Given the description of an element on the screen output the (x, y) to click on. 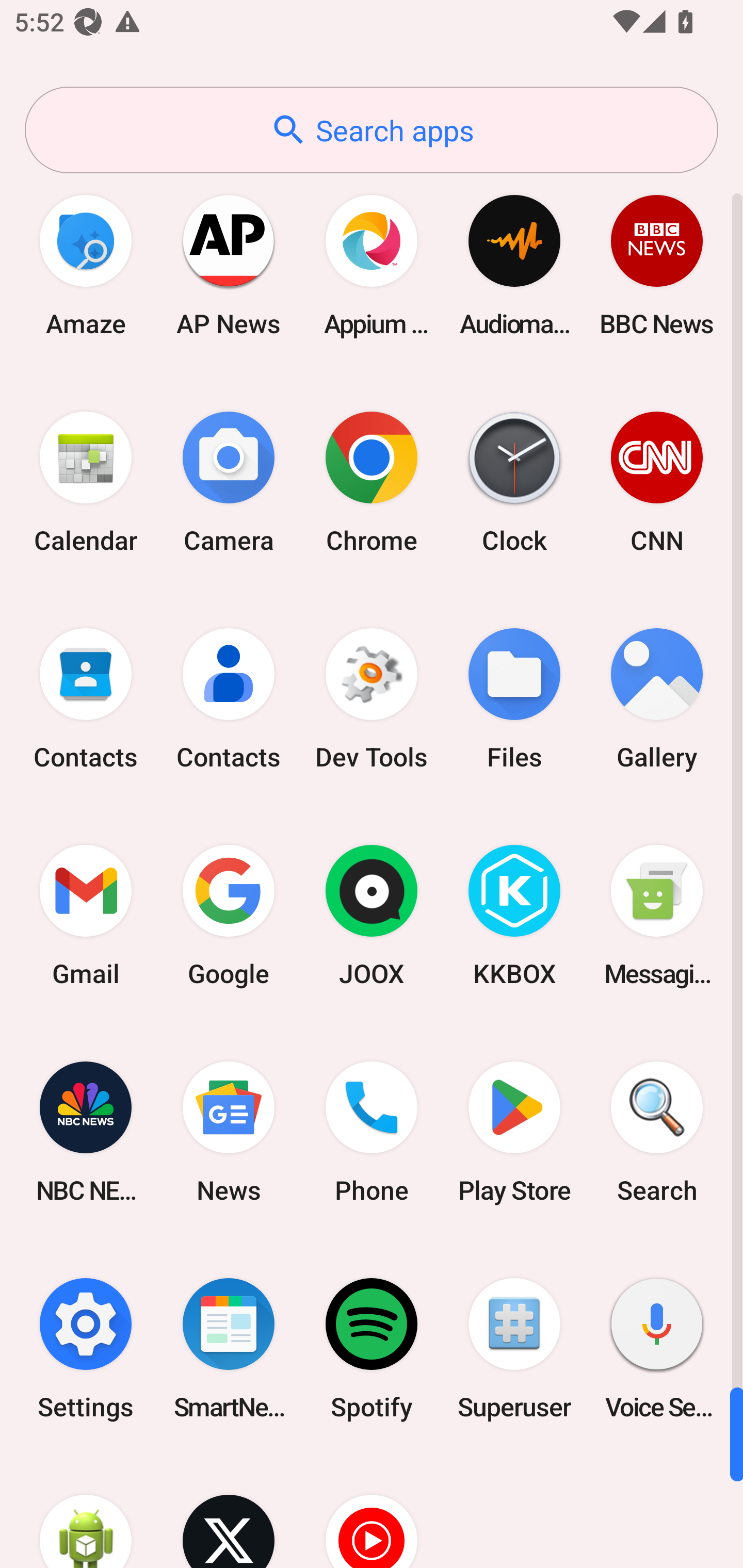
  Search apps (371, 130)
Amaze (85, 264)
AP News (228, 264)
Appium Settings (371, 264)
Audio­mack (514, 264)
BBC News (656, 264)
Calendar (85, 482)
Camera (228, 482)
Chrome (371, 482)
Clock (514, 482)
CNN (656, 482)
Contacts (85, 699)
Contacts (228, 699)
Dev Tools (371, 699)
Files (514, 699)
Gallery (656, 699)
Gmail (85, 915)
Google (228, 915)
JOOX (371, 915)
KKBOX (514, 915)
Messaging (656, 915)
NBC NEWS (85, 1131)
News (228, 1131)
Phone (371, 1131)
Play Store (514, 1131)
Search (656, 1131)
Settings (85, 1348)
SmartNews (228, 1348)
Spotify (371, 1348)
Superuser (514, 1348)
Voice Search (656, 1348)
WebView Browser Tester (85, 1512)
X (228, 1512)
YT Music (371, 1512)
